Given the description of an element on the screen output the (x, y) to click on. 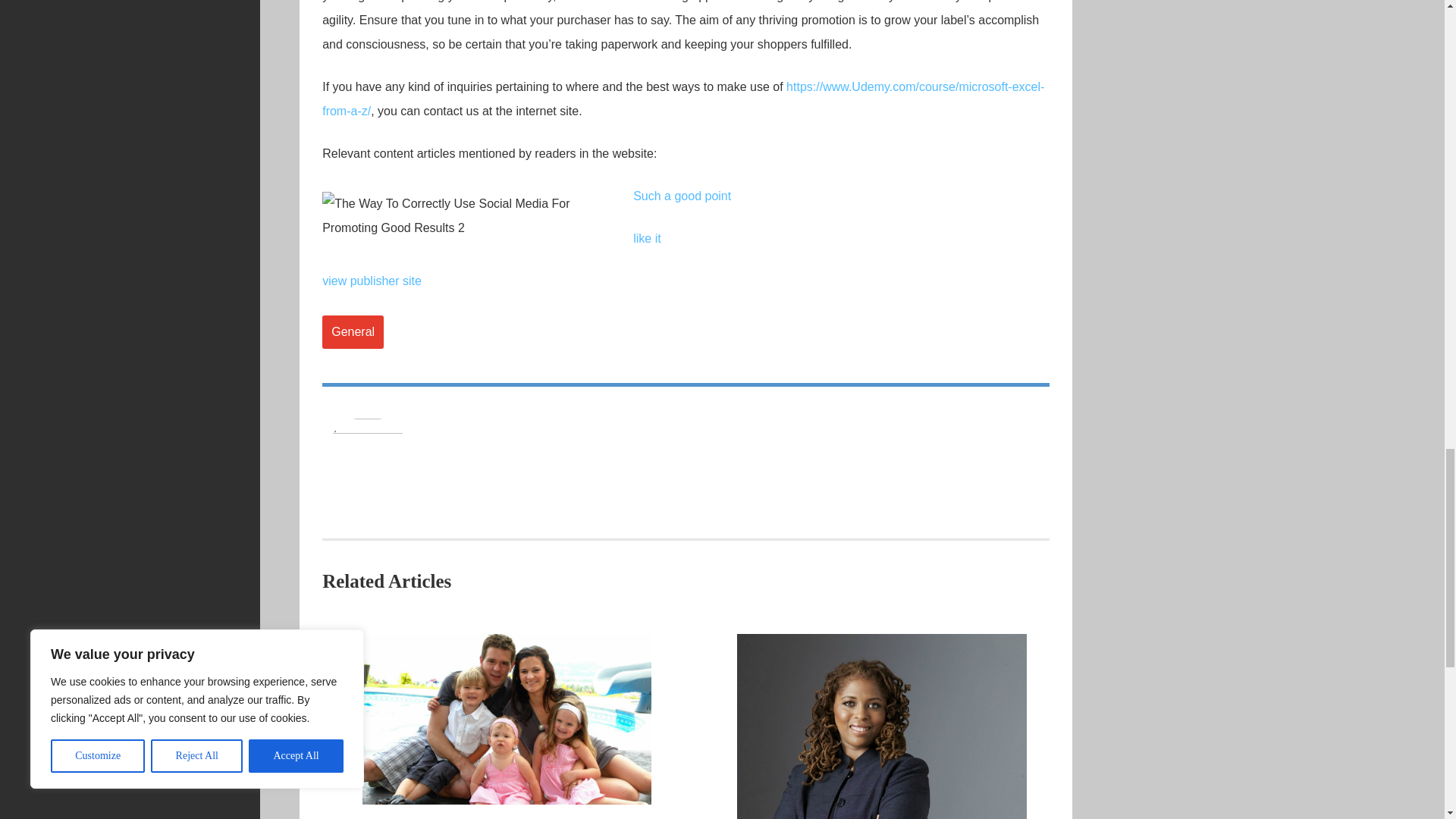
like it (647, 237)
Such a good point (681, 195)
view publisher site (371, 280)
General (352, 331)
